Given the description of an element on the screen output the (x, y) to click on. 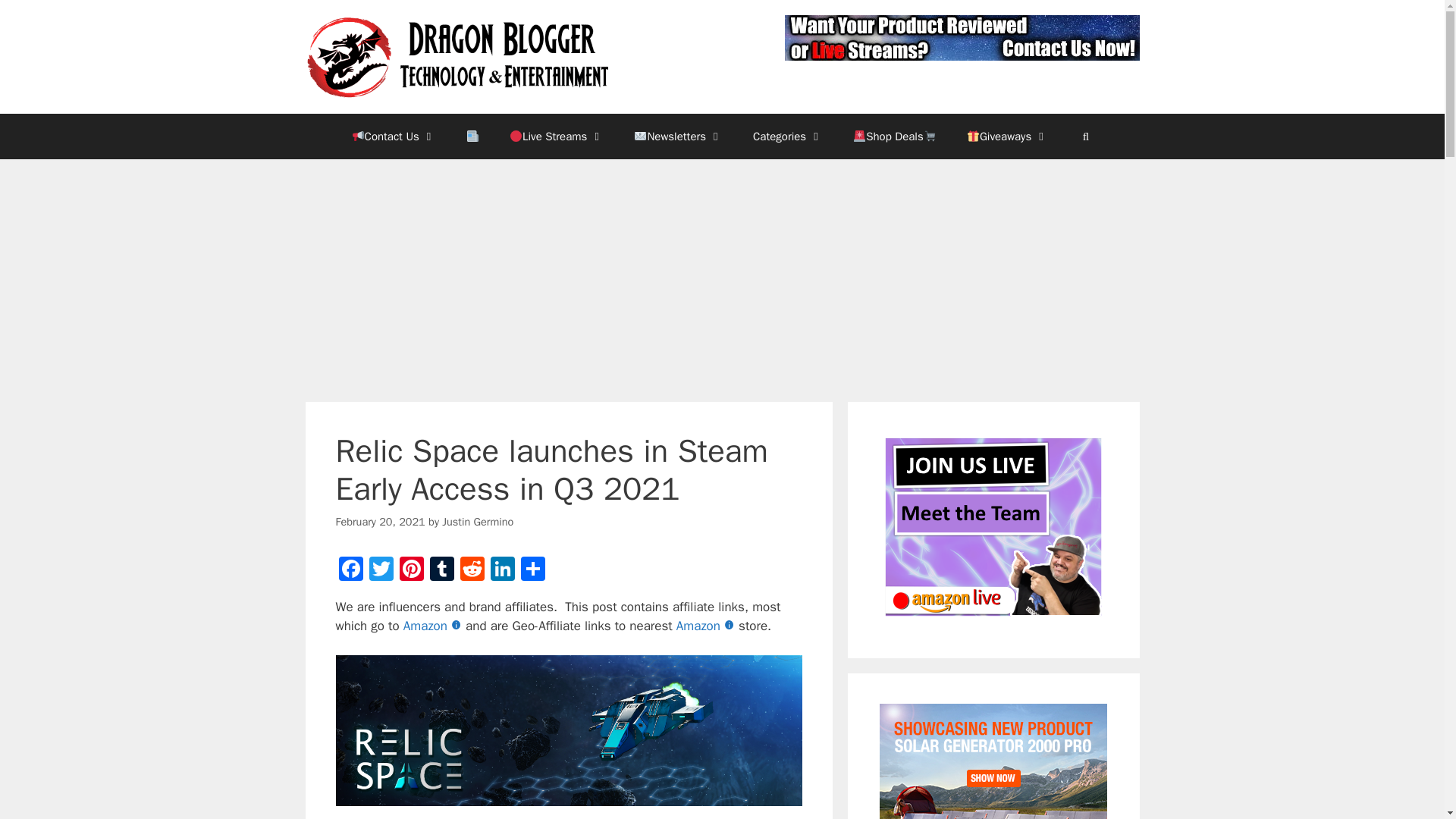
Amazon Homepage (434, 625)
Facebook (349, 570)
Tumblr (441, 570)
Newsletters (678, 135)
Pinterest (411, 570)
Amazon Homepage (707, 625)
Twitter (380, 570)
LinkedIn (501, 570)
View all posts by Justin Germino (477, 521)
Reddit (471, 570)
